Given the description of an element on the screen output the (x, y) to click on. 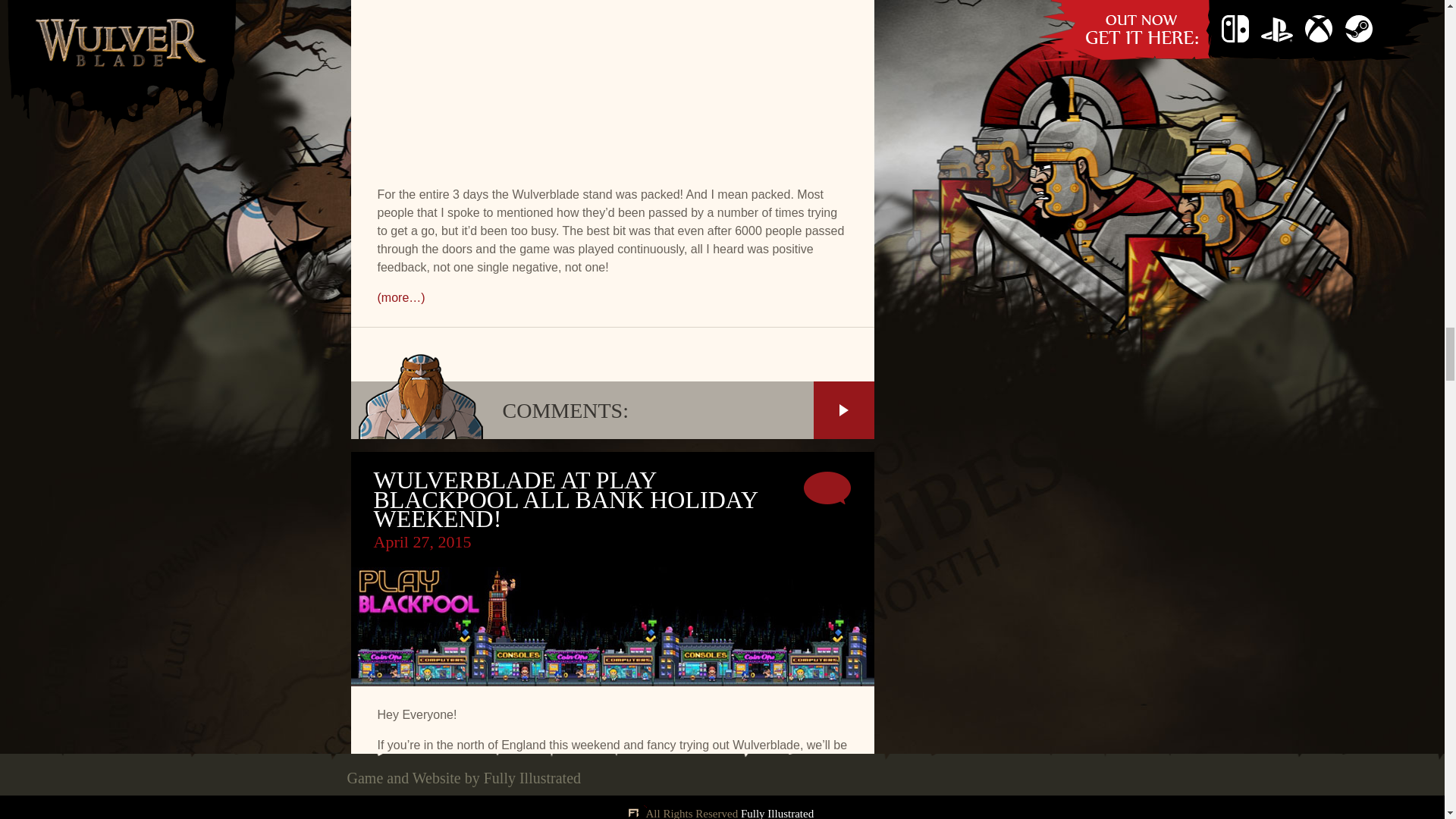
Wulverblade at Play Blackpool All Bank Holiday Weekend! (564, 499)
WULVERBLADE AT PLAY BLACKPOOL ALL BANK HOLIDAY WEEKEND! (564, 499)
play blackpool (430, 762)
Play Blackpool (430, 762)
COMMENTS: (611, 409)
